Given the description of an element on the screen output the (x, y) to click on. 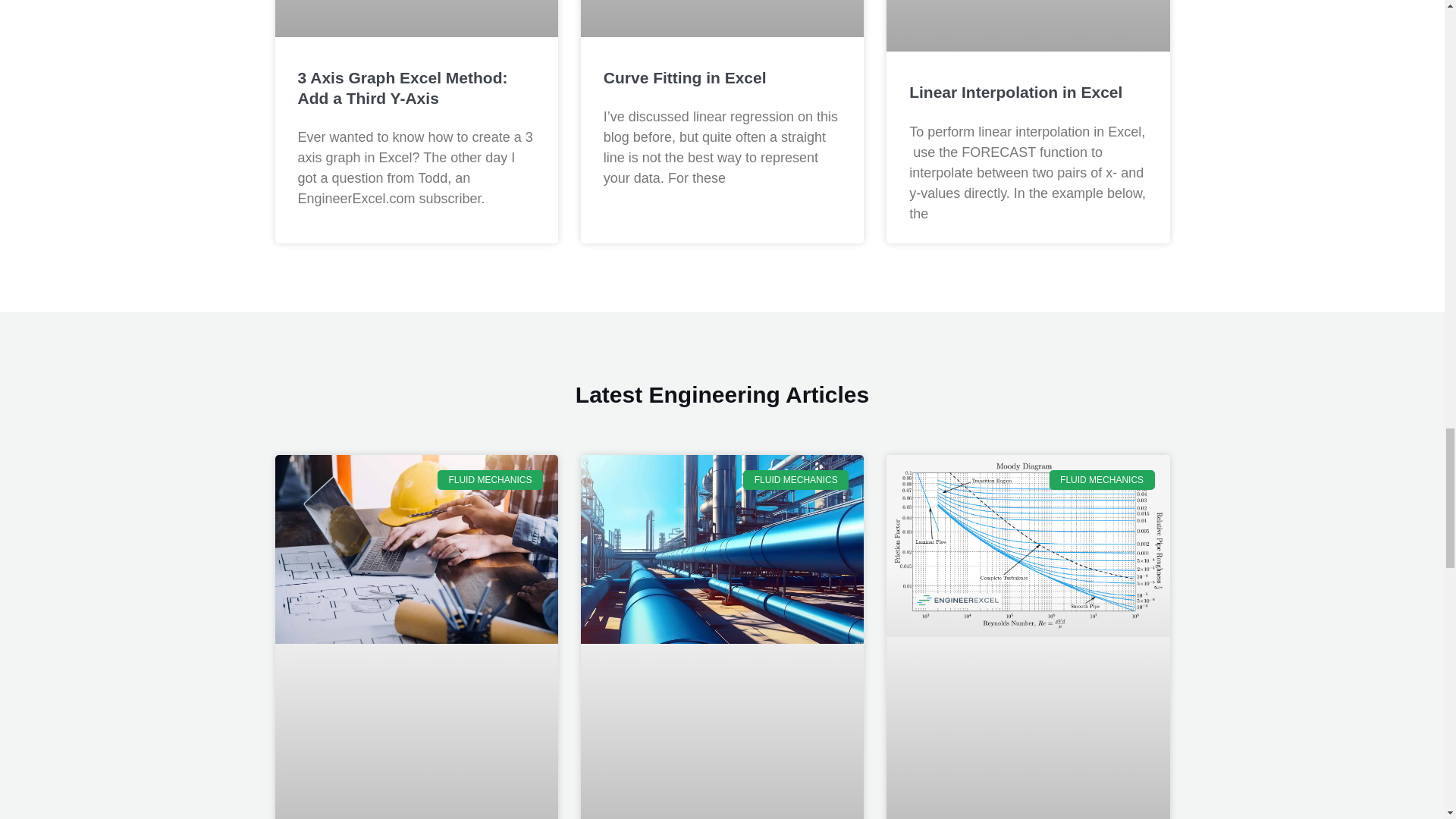
Curve Fitting in Excel (685, 77)
Linear Interpolation in Excel (1015, 91)
3 Axis Graph Excel Method: Add a Third Y-Axis (401, 87)
